Given the description of an element on the screen output the (x, y) to click on. 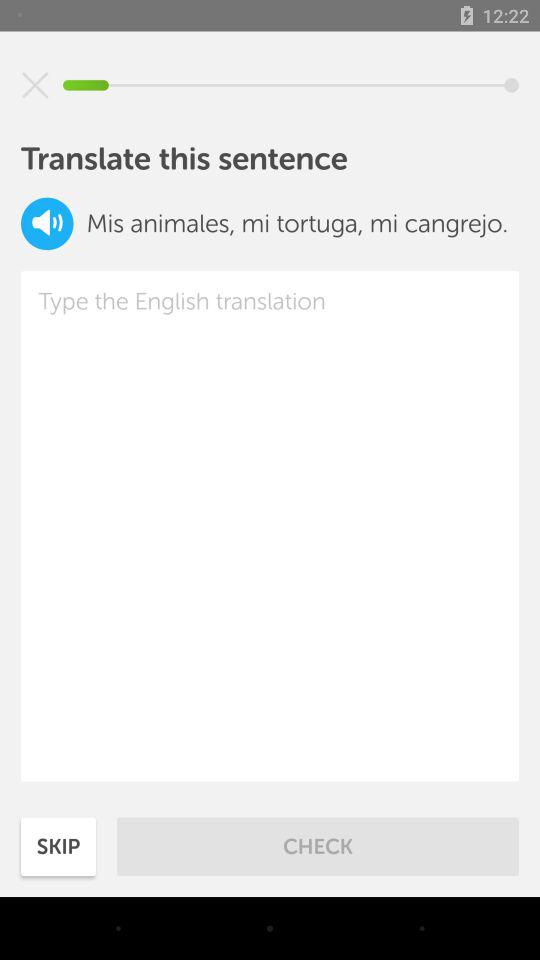
type here (270, 526)
